Given the description of an element on the screen output the (x, y) to click on. 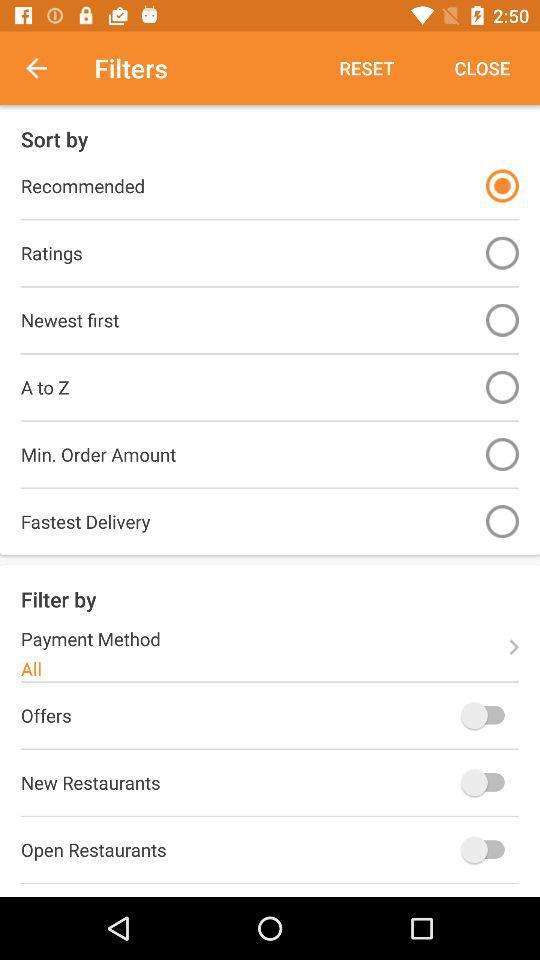
toggle open restaurants option (487, 849)
